Given the description of an element on the screen output the (x, y) to click on. 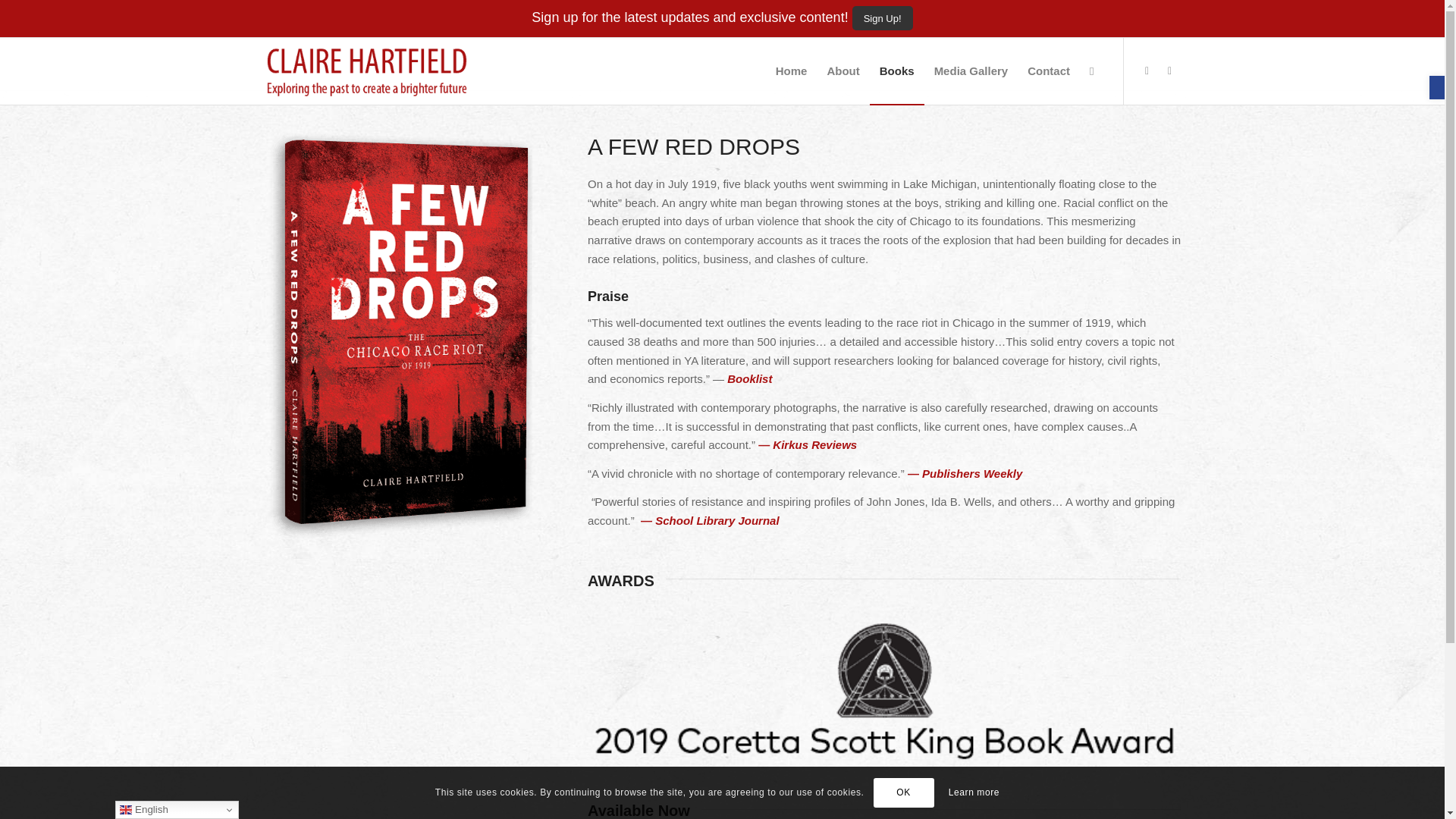
Claire-Hartfield-logo-master (366, 70)
Sign Up! (881, 17)
Coretta-Scott-King-Award (884, 690)
Twitter (1169, 69)
Media Gallery (970, 70)
Contact (1048, 70)
Facebook (1146, 69)
OK (903, 792)
